Given the description of an element on the screen output the (x, y) to click on. 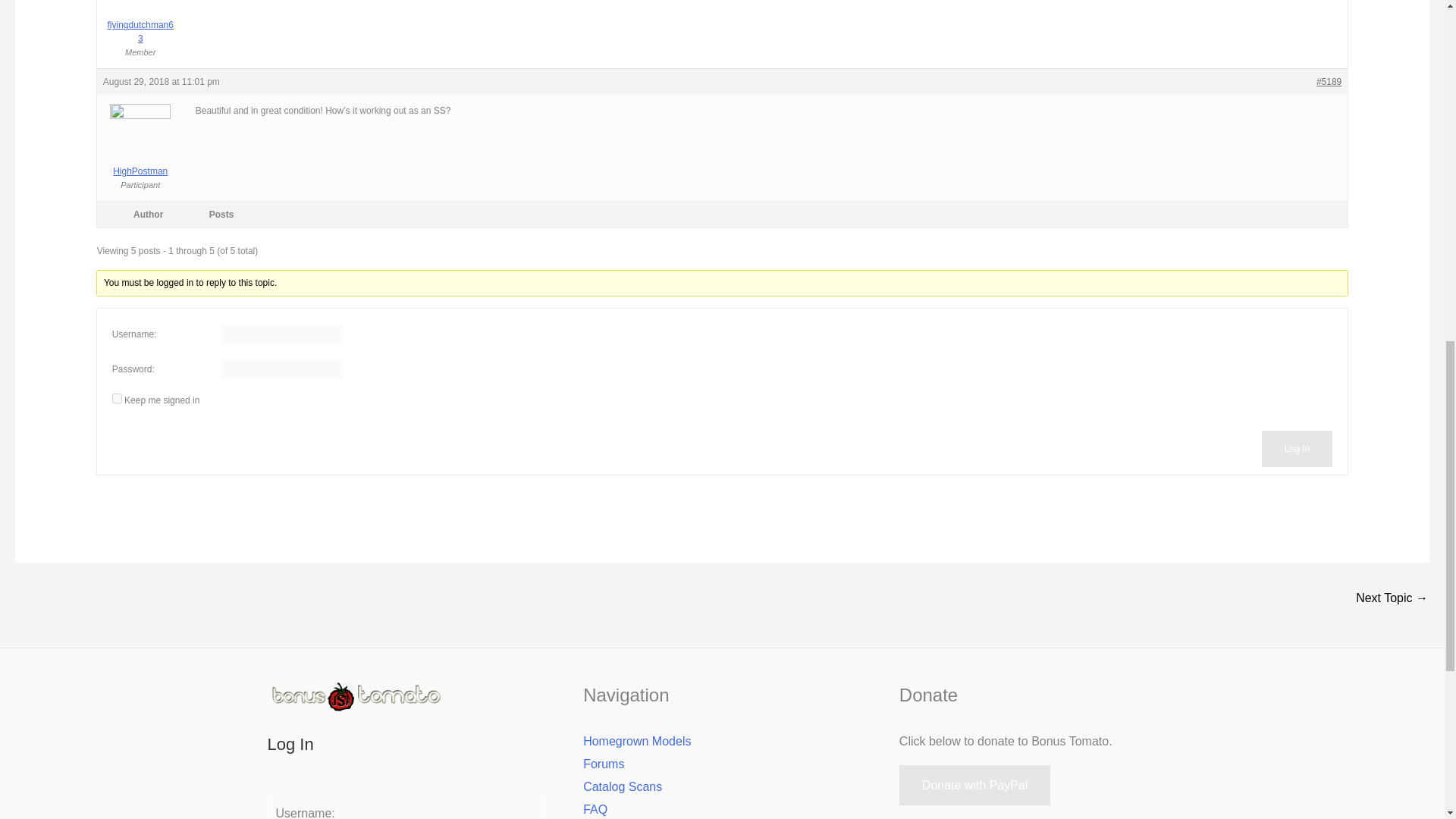
forever (117, 398)
View flyingdutchman63's profile (140, 22)
View HighPostman's profile (140, 150)
